Given the description of an element on the screen output the (x, y) to click on. 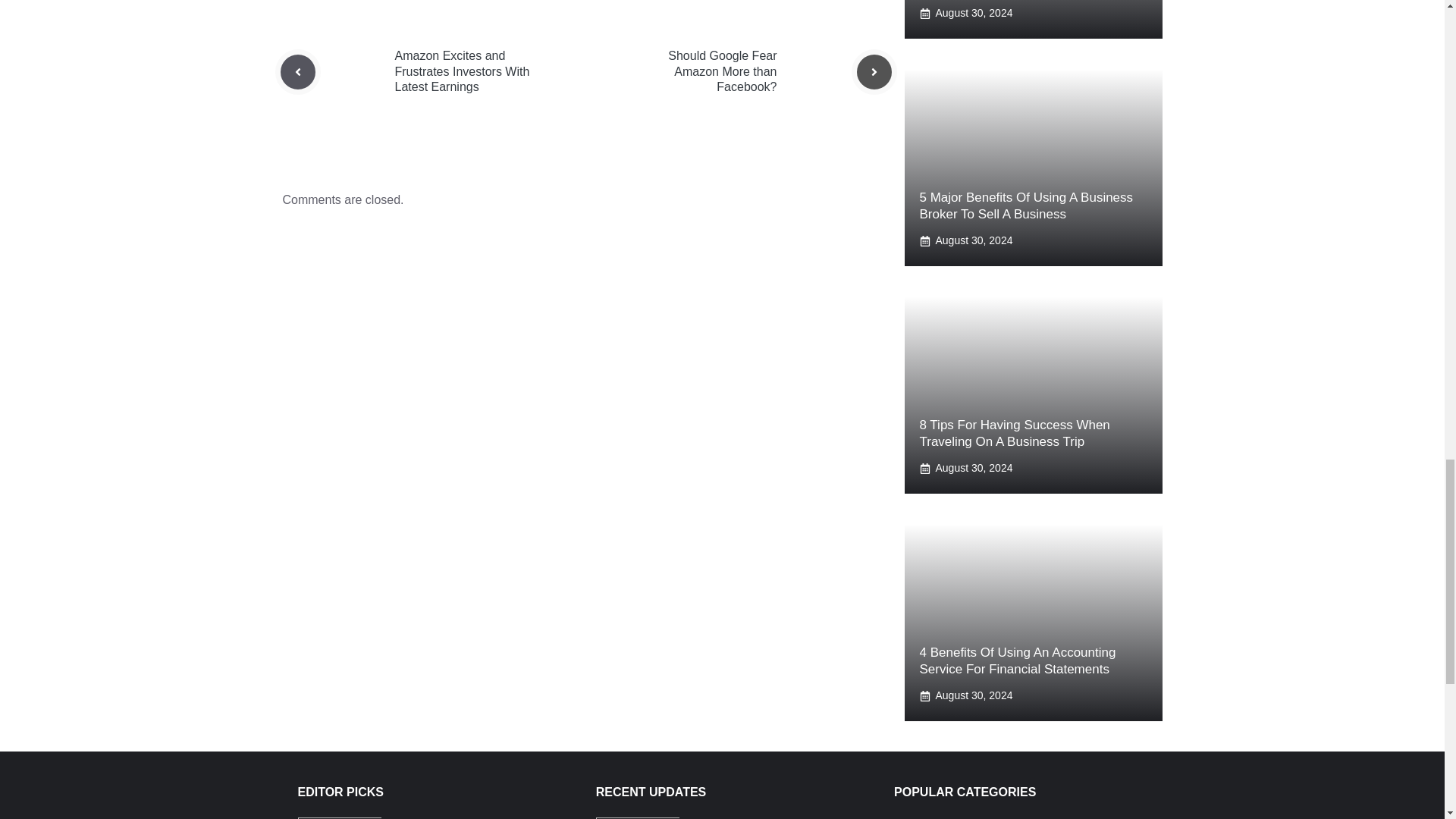
Amazon Excites and Frustrates Investors With Latest Earnings (461, 71)
8 Tips For Having Success When Traveling On A Business Trip (1013, 432)
Should Google Fear Amazon More than Facebook? (722, 71)
